Given the description of an element on the screen output the (x, y) to click on. 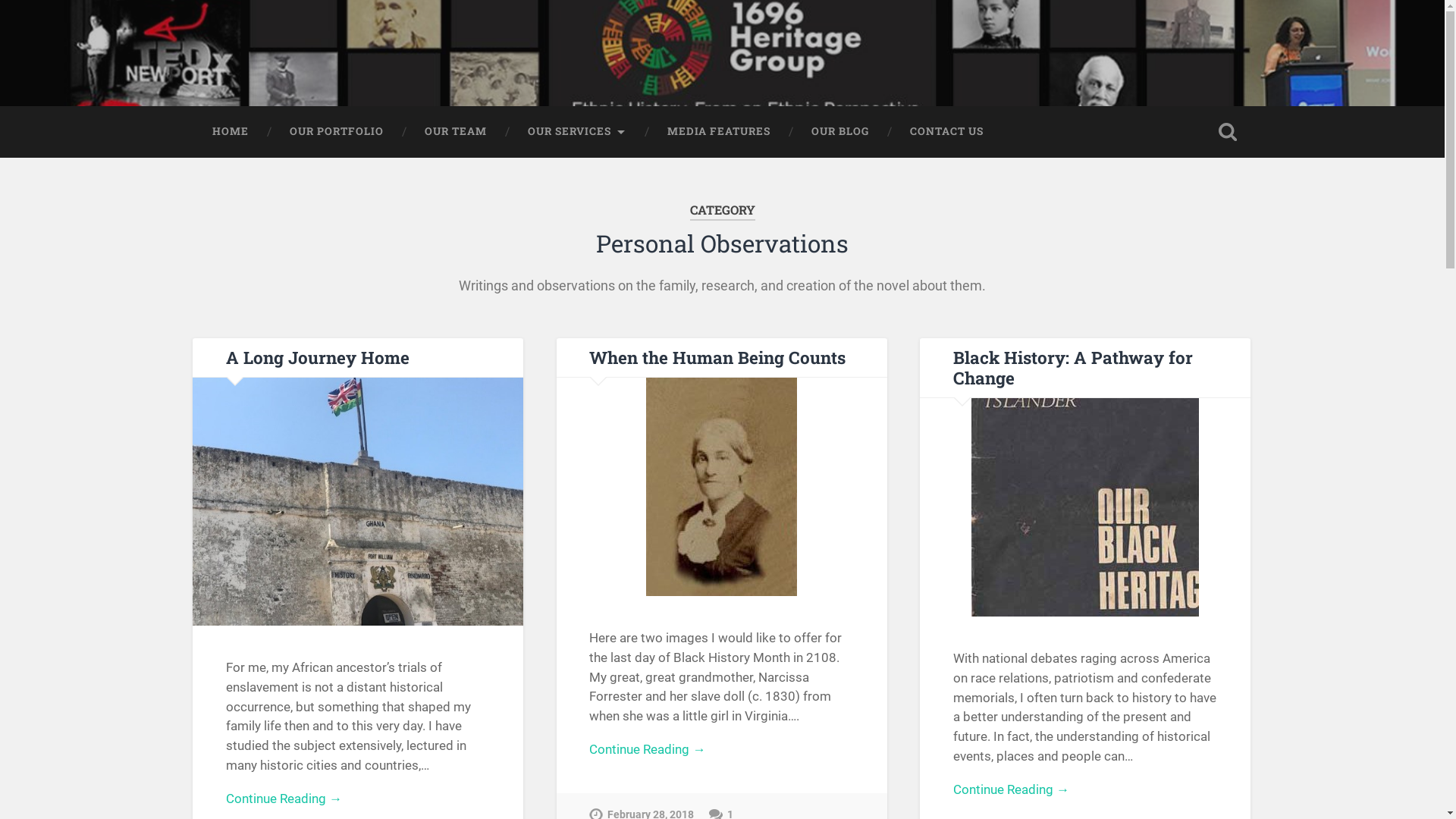
OUR SERVICES Element type: text (576, 131)
OUR BLOG Element type: text (839, 131)
HOME Element type: text (229, 131)
When the Human Being Counts Element type: text (717, 356)
Black History: A Pathway for Change Element type: text (1072, 367)
OUR TEAM Element type: text (454, 131)
OUR PORTFOLIO Element type: text (335, 131)
CONTACT US Element type: text (945, 131)
MEDIA FEATURES Element type: text (718, 131)
A Long Journey Home Element type: text (317, 356)
